Given the description of an element on the screen output the (x, y) to click on. 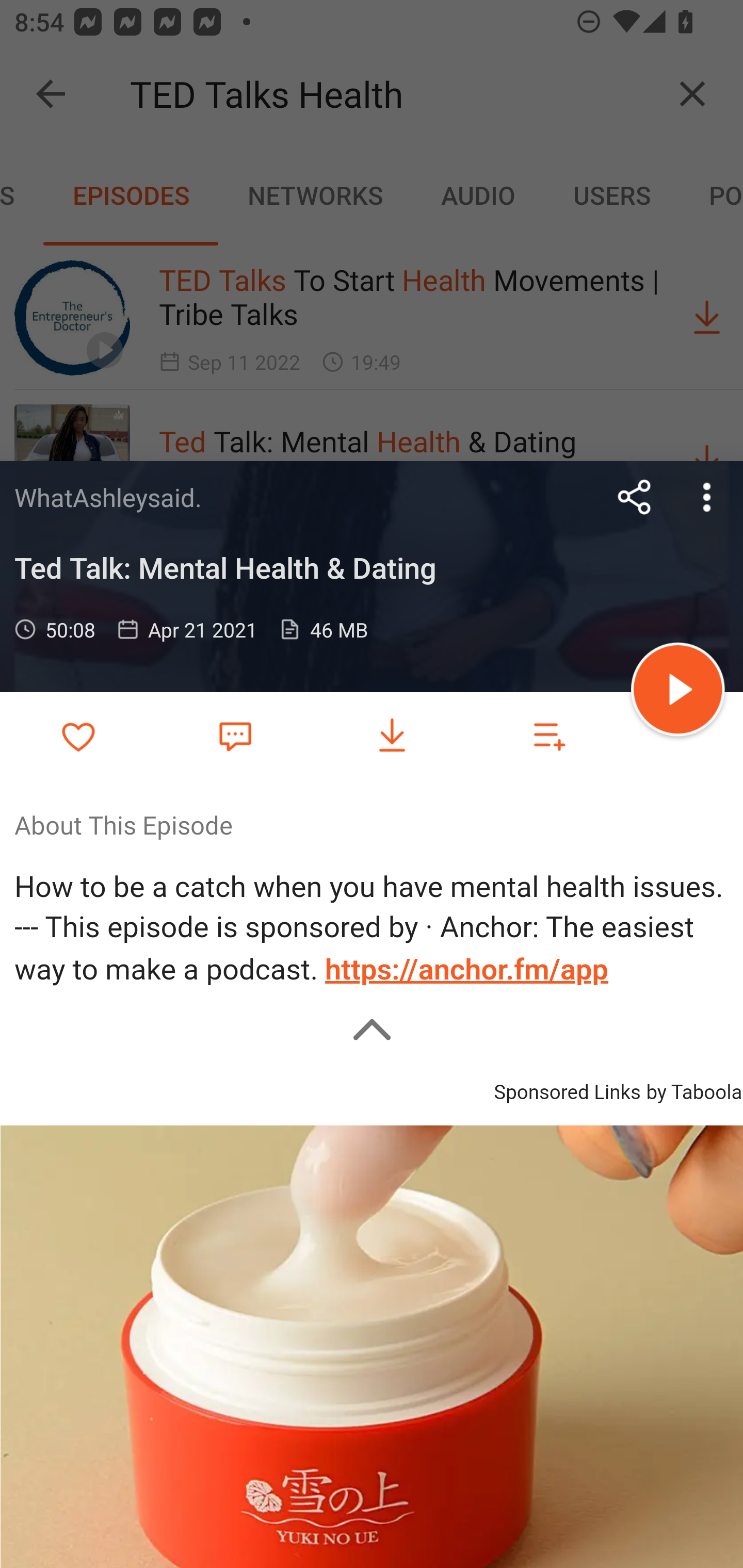
Share (634, 496)
more options (706, 496)
Play (677, 692)
Favorite (234, 735)
Add to Favorites (78, 735)
Download (391, 735)
Add to playlist (548, 735)
https://anchor.fm/app (467, 969)
Sponsored Links (566, 1088)
by Taboola (693, 1088)
Image for Taboola Advertising Unit (371, 1345)
